Given the description of an element on the screen output the (x, y) to click on. 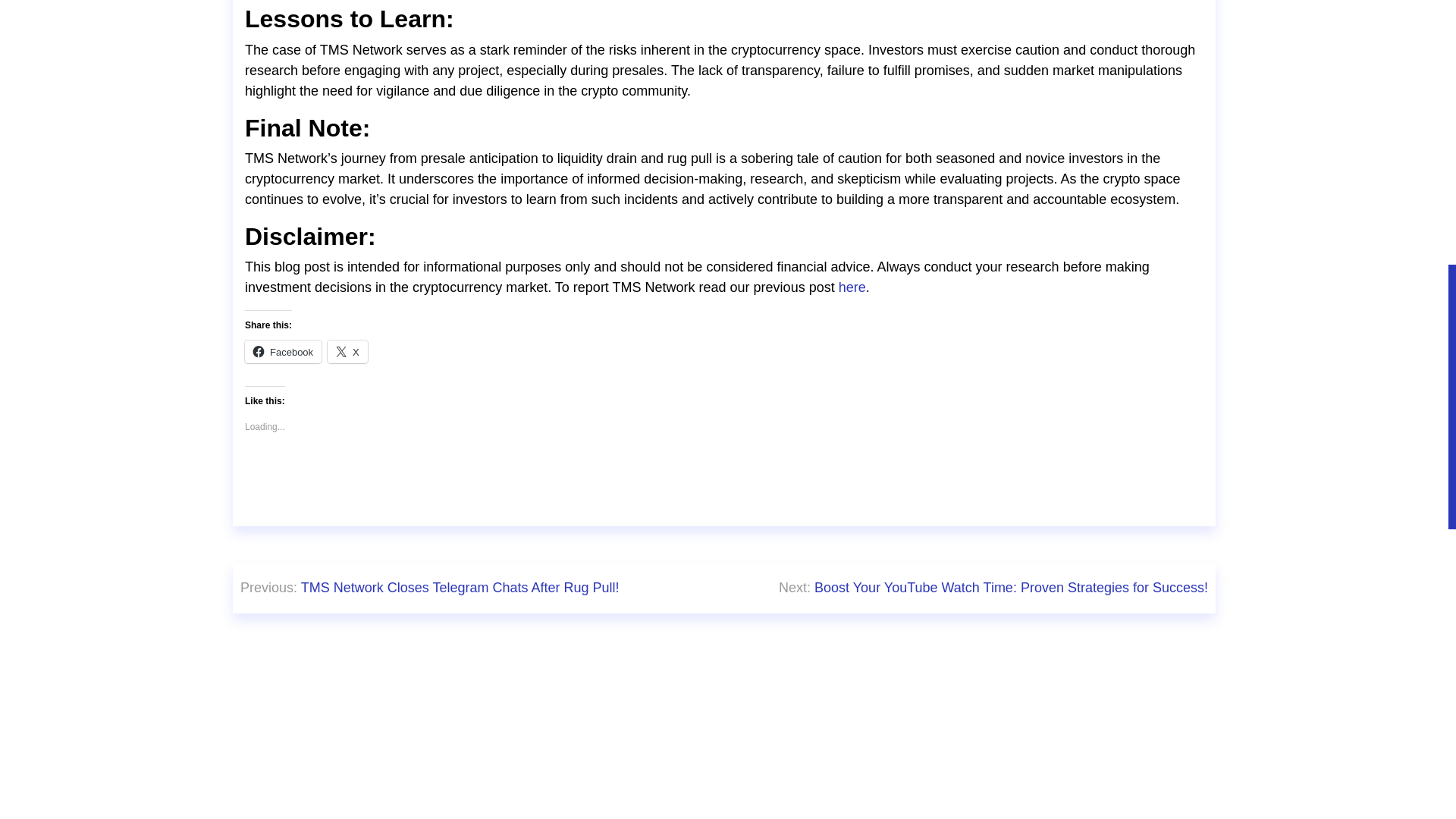
Click to share on X (347, 351)
Click to share on Facebook (282, 351)
